Given the description of an element on the screen output the (x, y) to click on. 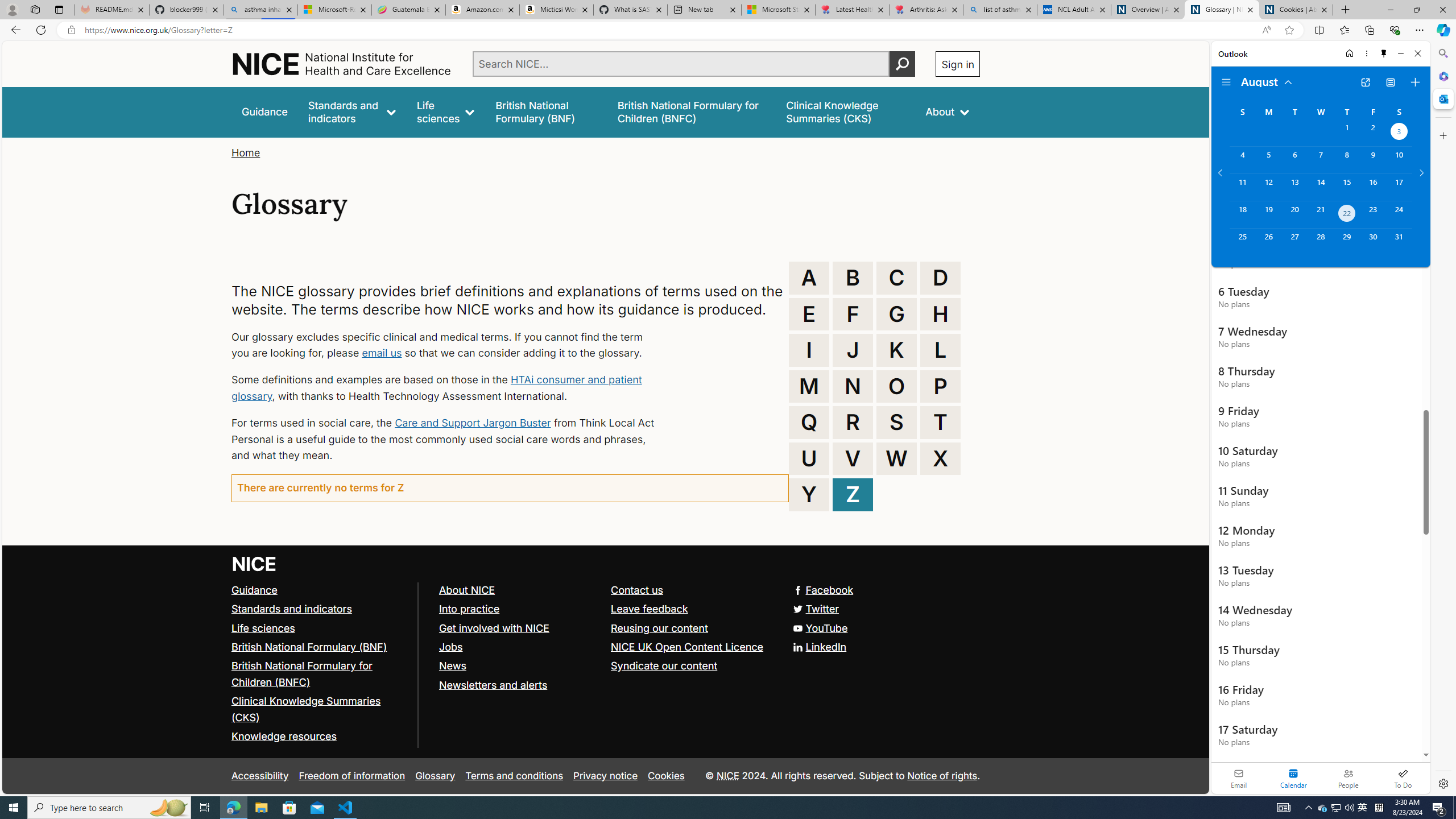
Notice of rights (941, 775)
U (809, 458)
Go to NICE home page (253, 563)
email us (381, 353)
Knowledge resources (283, 736)
U (809, 458)
L (940, 350)
Wednesday, August 28, 2024.  (1320, 241)
Leave feedback (649, 608)
Email (1238, 777)
